Given the description of an element on the screen output the (x, y) to click on. 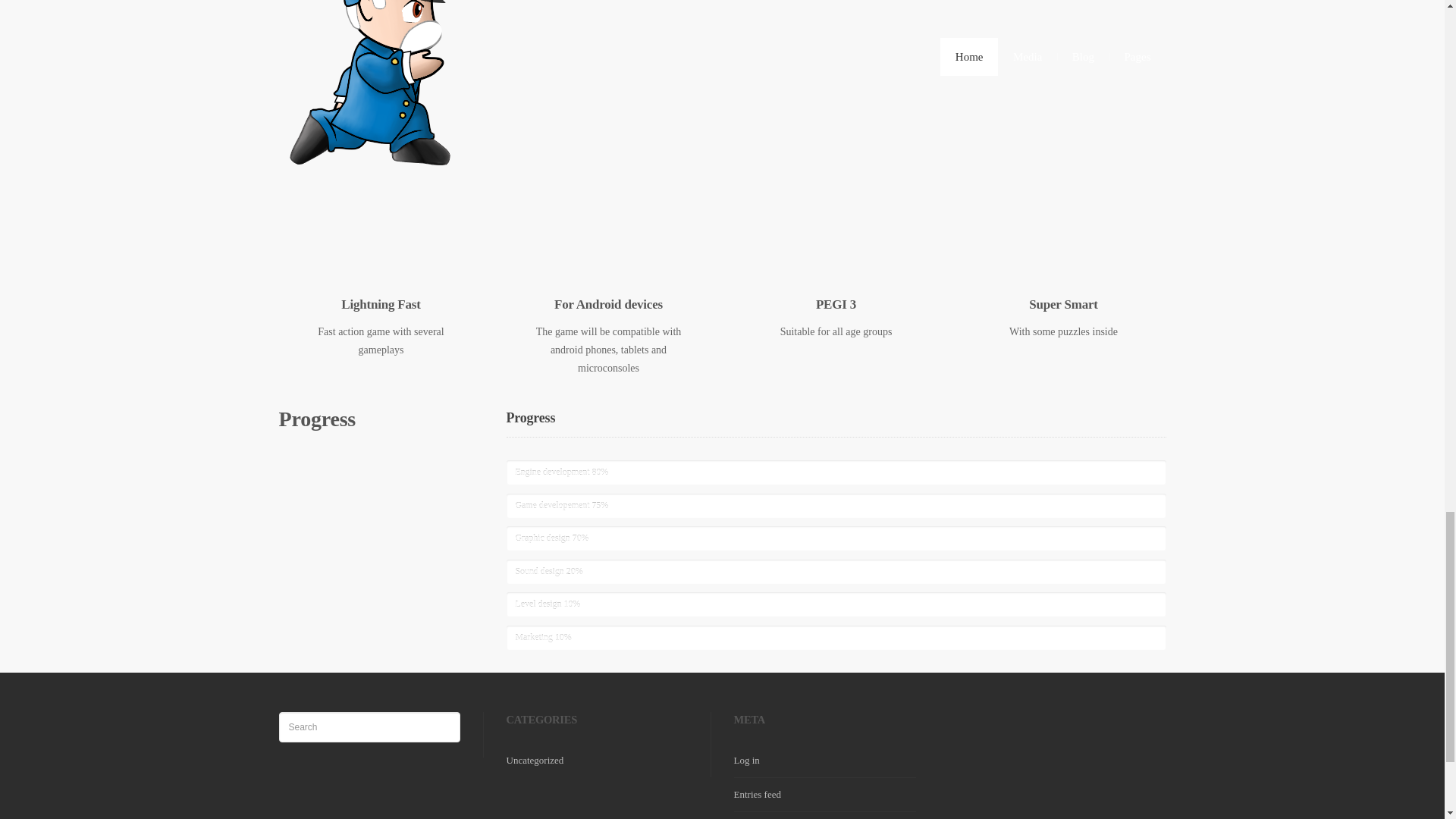
Uncategorized (535, 759)
Entries feed (756, 794)
Log in (746, 759)
